Given the description of an element on the screen output the (x, y) to click on. 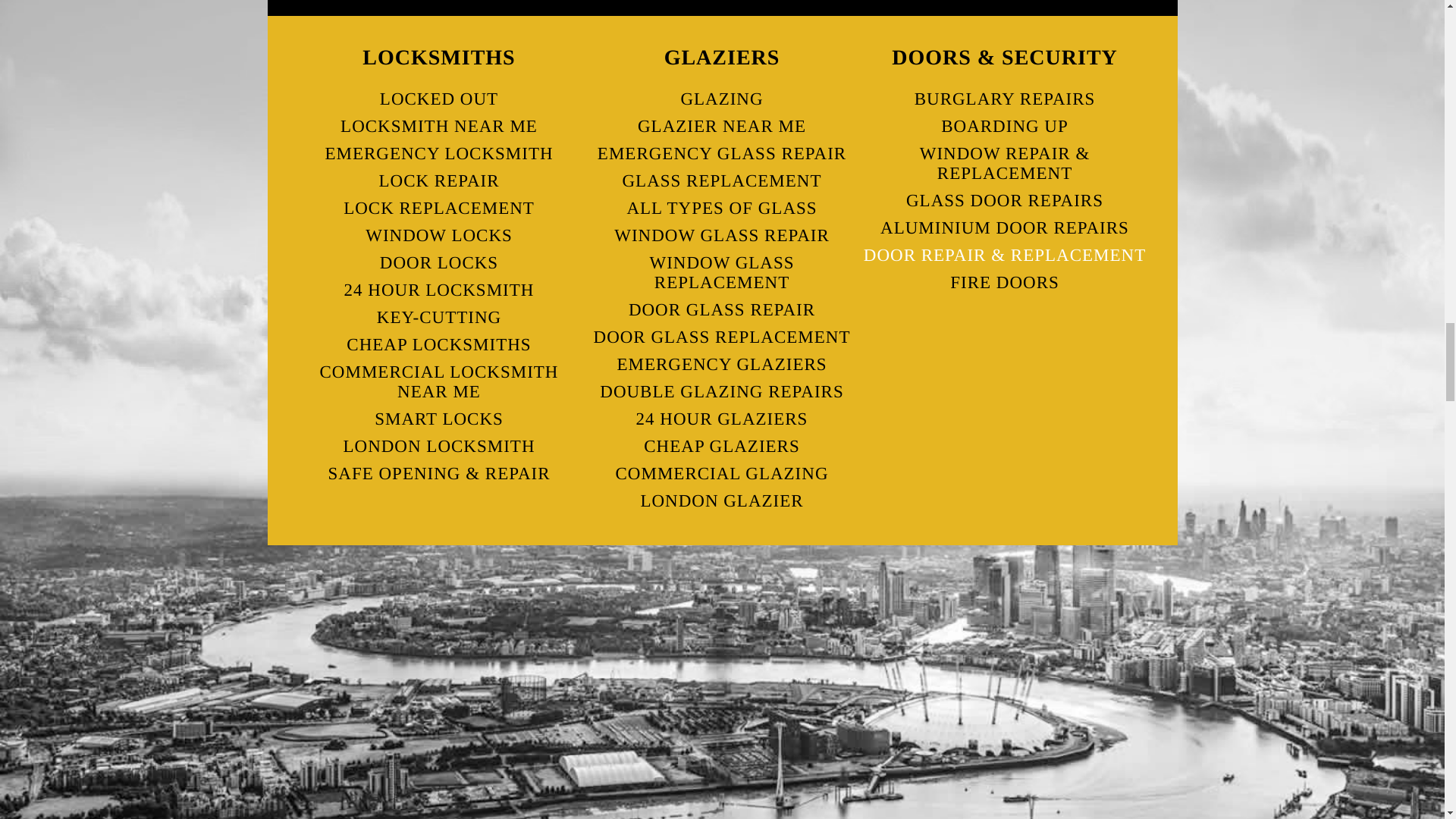
GLAZING (721, 98)
LOCK REPLACEMENT (438, 207)
COMMERCIAL LOCKSMITH NEAR ME (438, 380)
SMART LOCKS (438, 418)
LOCKSMITH NEAR ME (438, 125)
24 HOUR LOCKSMITH (438, 289)
KEY-CUTTING (438, 316)
CHEAP LOCKSMITHS (438, 343)
DOOR LOCKS (438, 262)
WINDOW LOCKS (438, 234)
